Given the description of an element on the screen output the (x, y) to click on. 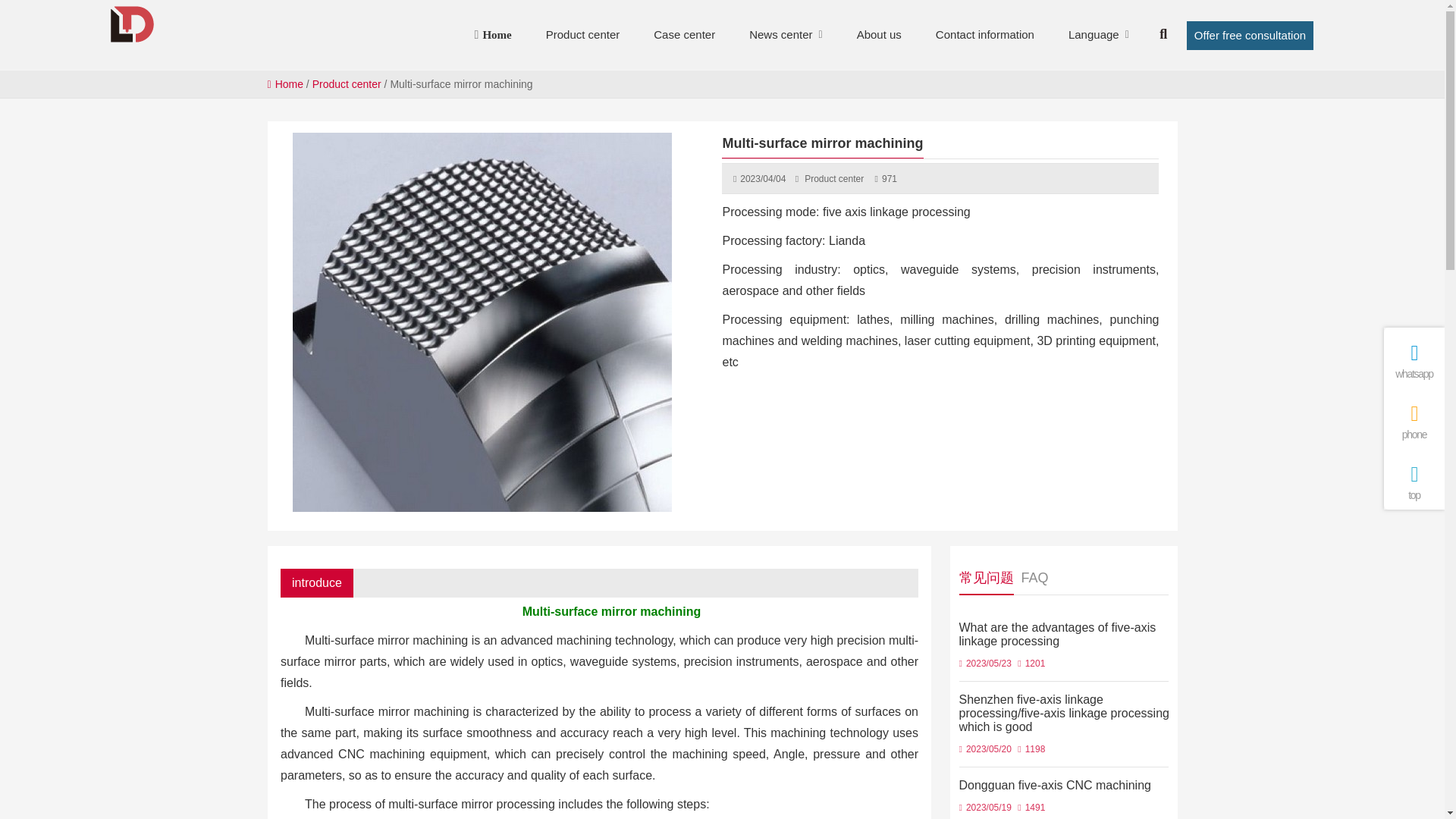
Offer free consultation (1249, 35)
Contact information (984, 34)
Home (496, 34)
News center (780, 34)
Product center (583, 34)
About us (879, 34)
Language (1093, 34)
Case center (683, 34)
